Given the description of an element on the screen output the (x, y) to click on. 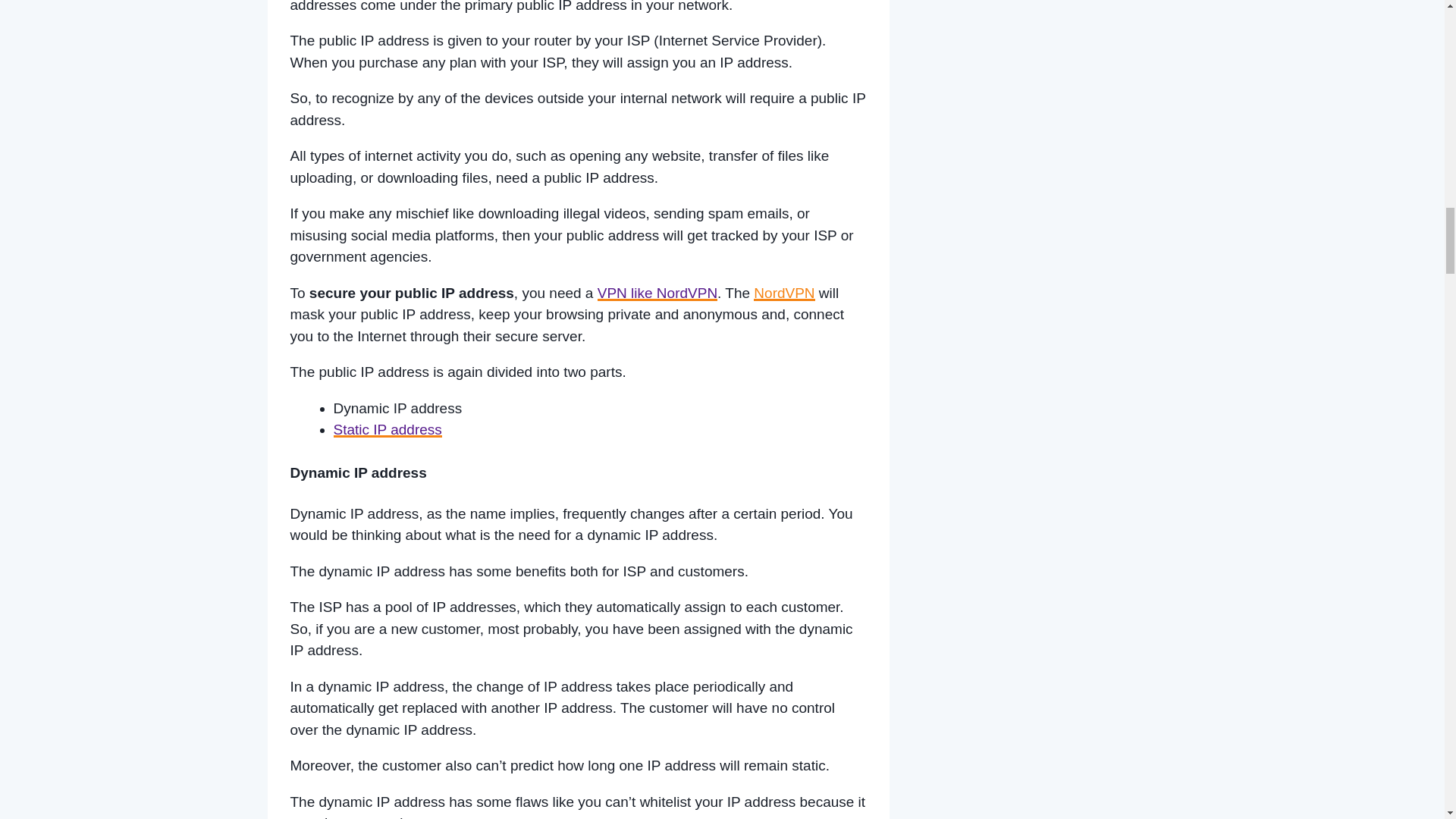
NordVPN (783, 293)
NordVPN (656, 293)
VPN like NordVPN (656, 293)
Static IP address (387, 429)
